Given the description of an element on the screen output the (x, y) to click on. 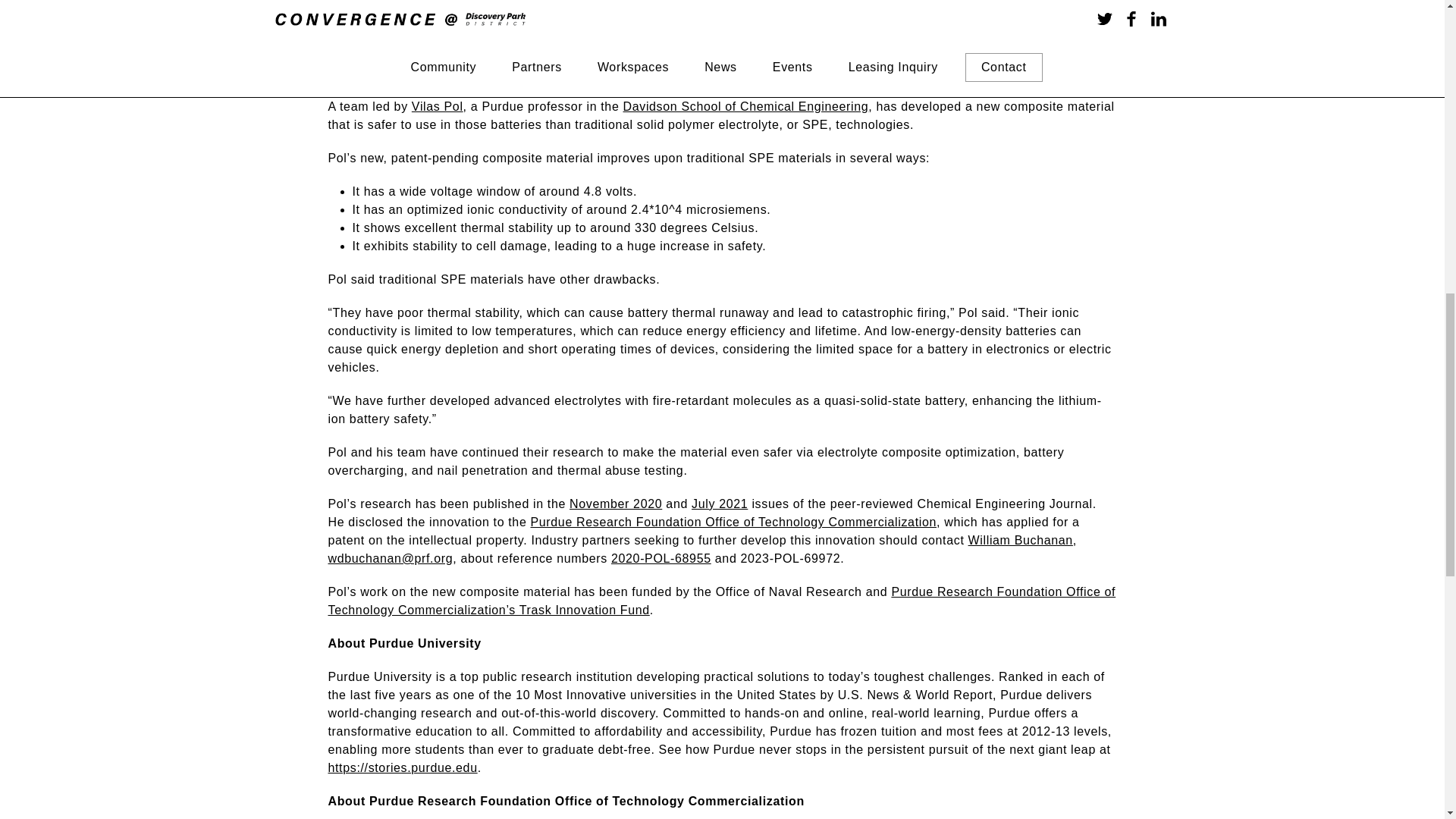
Davidson School of Chemical Engineering (746, 106)
July 2021 (719, 503)
Vilas Pol (437, 106)
2020-POL-68955 (661, 558)
William Buchanan (1020, 540)
November 2020 (615, 503)
